Given the description of an element on the screen output the (x, y) to click on. 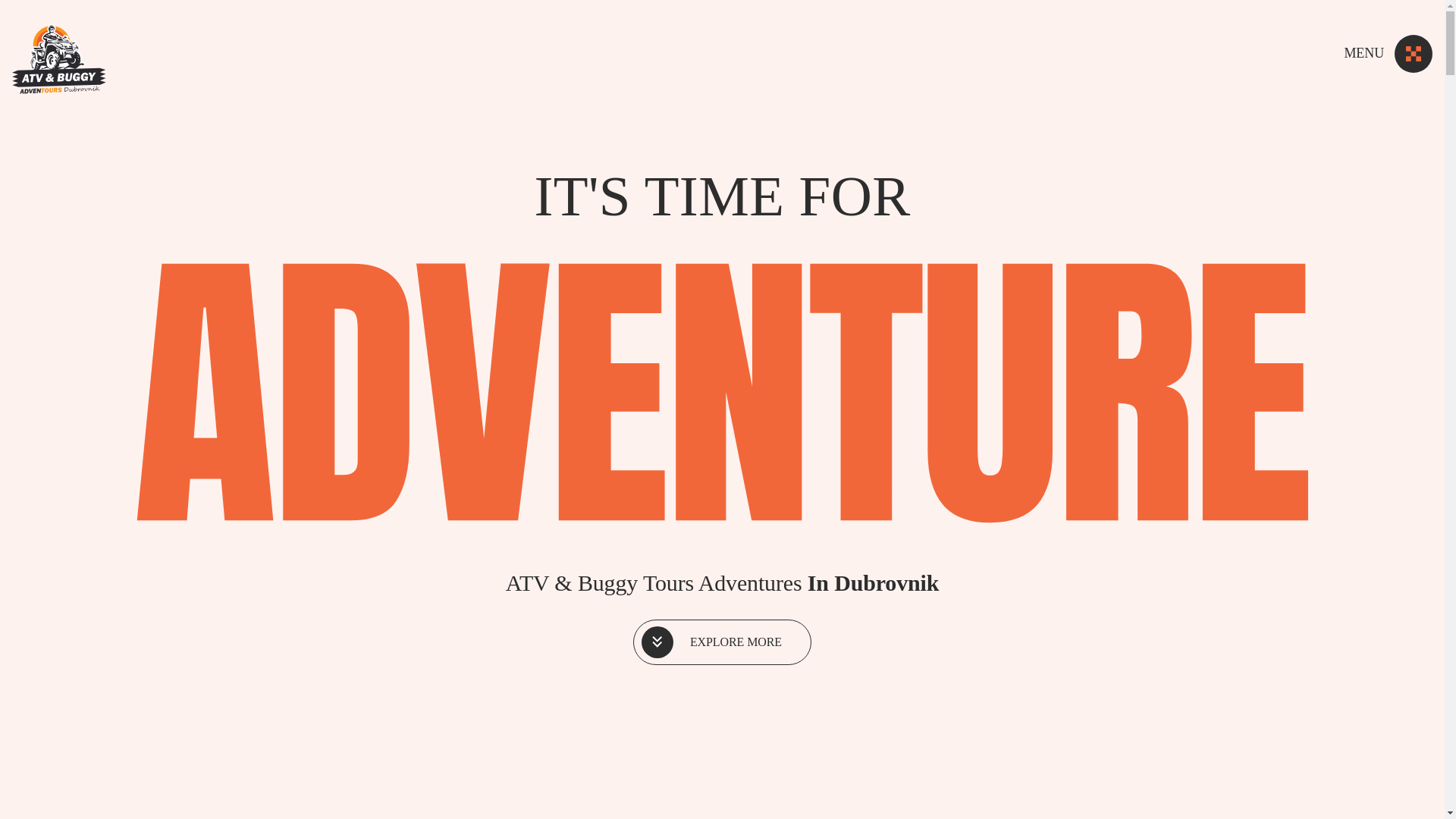
EXPLORE MORE (721, 642)
